Given the description of an element on the screen output the (x, y) to click on. 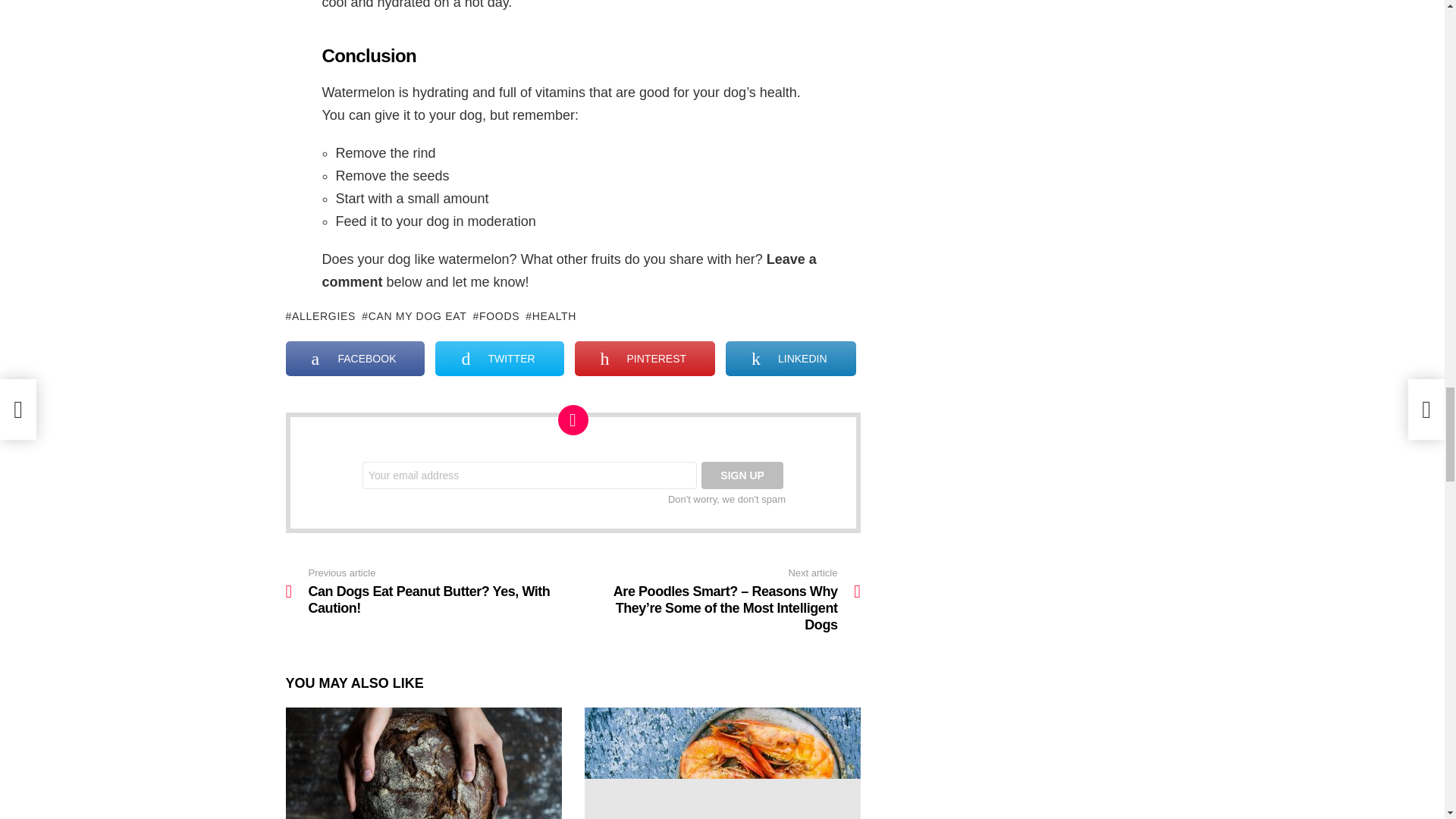
LINKEDIN (790, 358)
Sign up (742, 474)
FOODS (495, 315)
TWITTER (499, 358)
FACEBOOK (355, 358)
Share on Pinterest (644, 358)
Sign up (742, 474)
Share on Twitter (499, 358)
ALLERGIES (320, 315)
Share on Facebook (355, 358)
PINTEREST (644, 358)
HEALTH (550, 315)
CAN MY DOG EAT (413, 315)
